Given the description of an element on the screen output the (x, y) to click on. 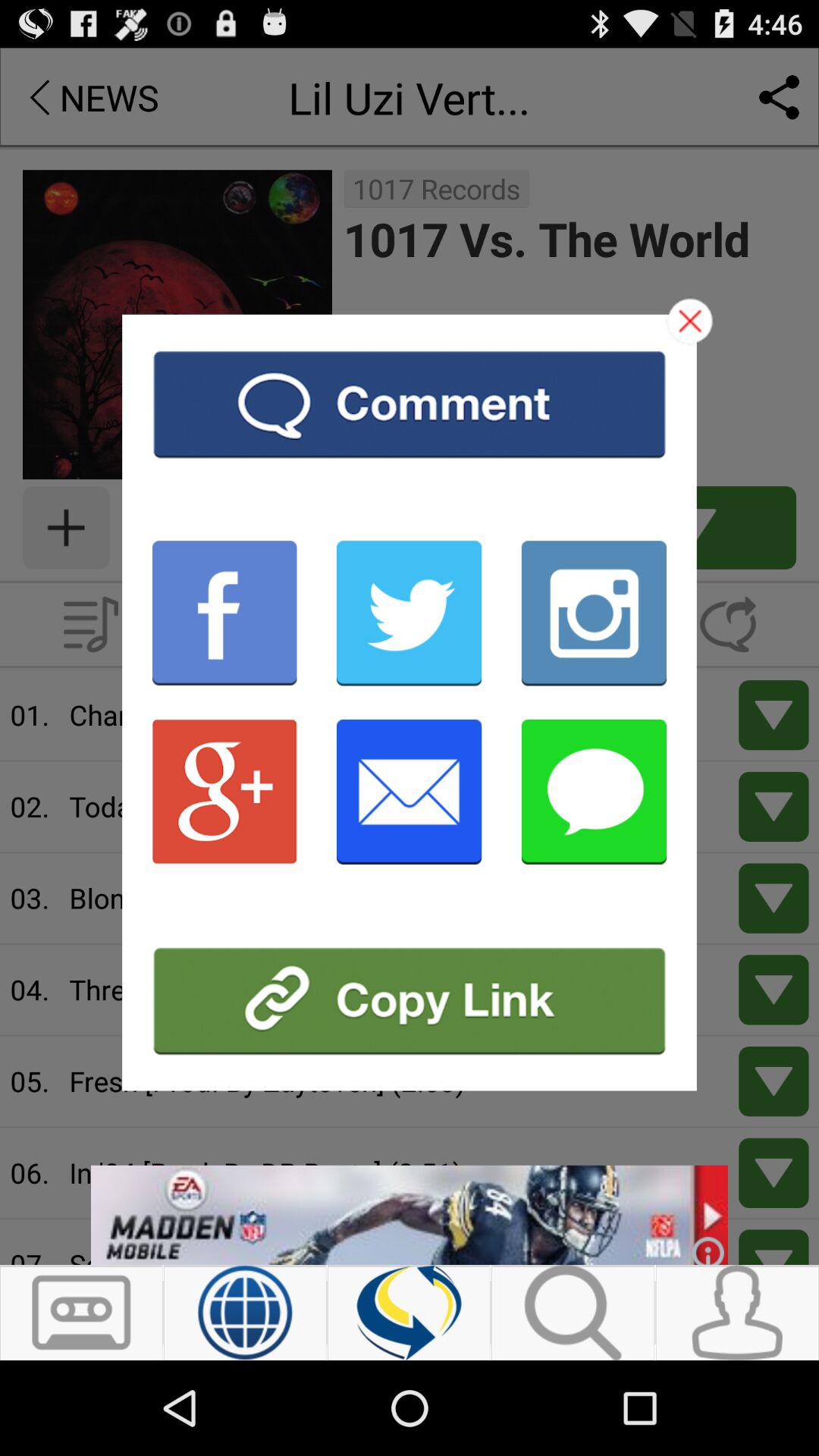
message (593, 791)
